Given the description of an element on the screen output the (x, y) to click on. 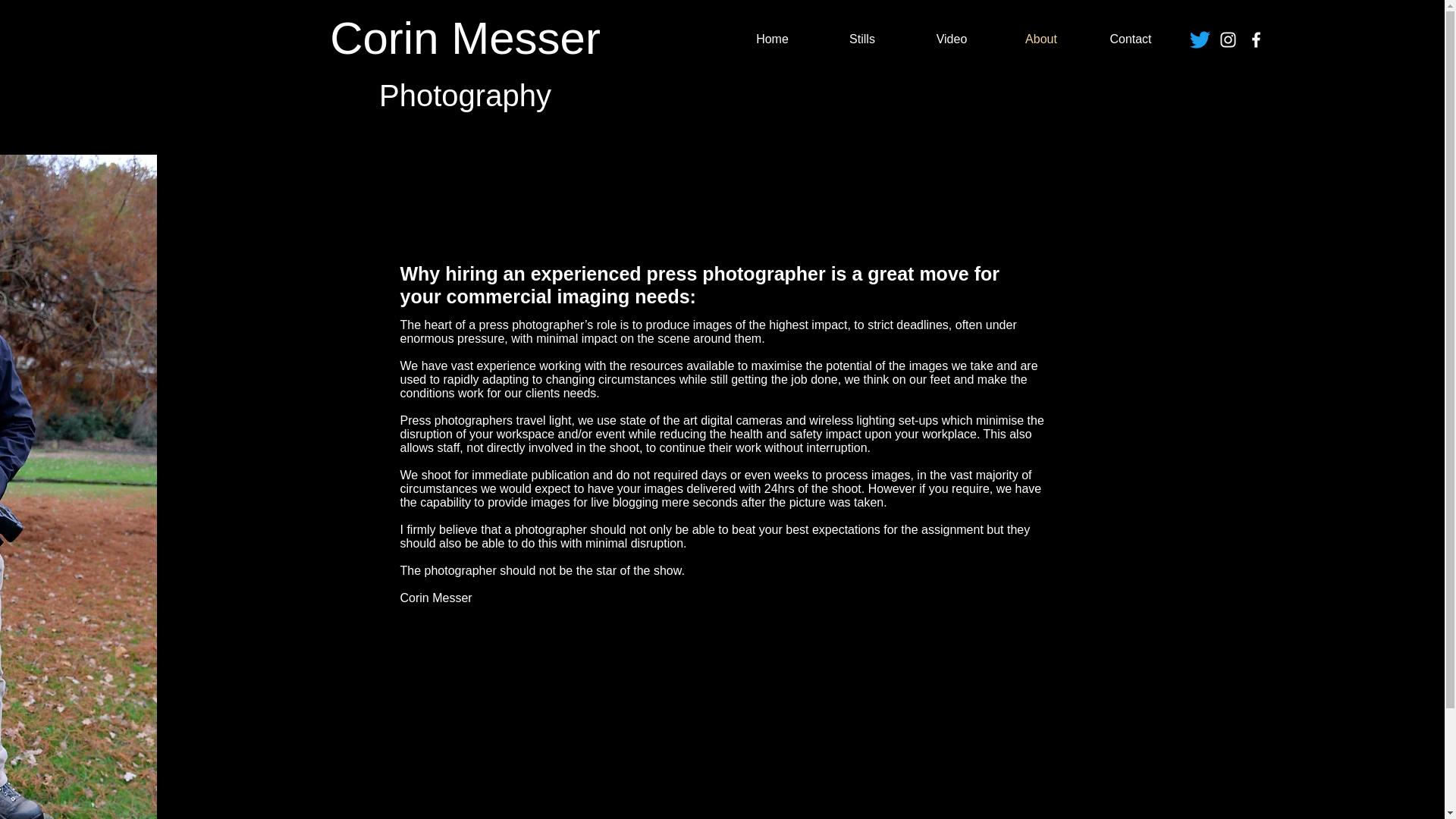
Contact (1130, 39)
Stills (861, 39)
Home (771, 39)
Video (951, 39)
About (1040, 39)
